Given the description of an element on the screen output the (x, y) to click on. 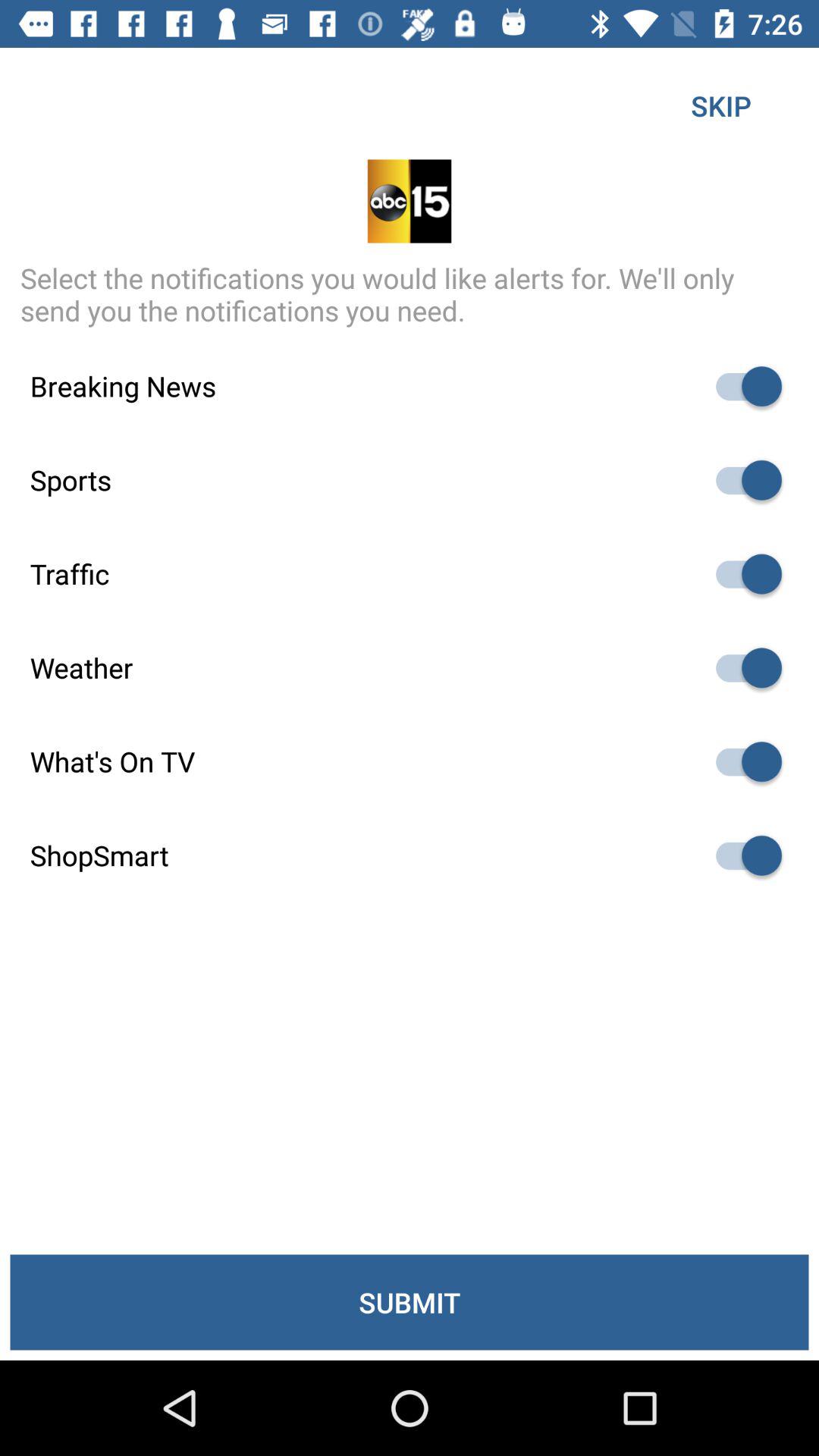
click the item above select the notifications icon (720, 105)
